Given the description of an element on the screen output the (x, y) to click on. 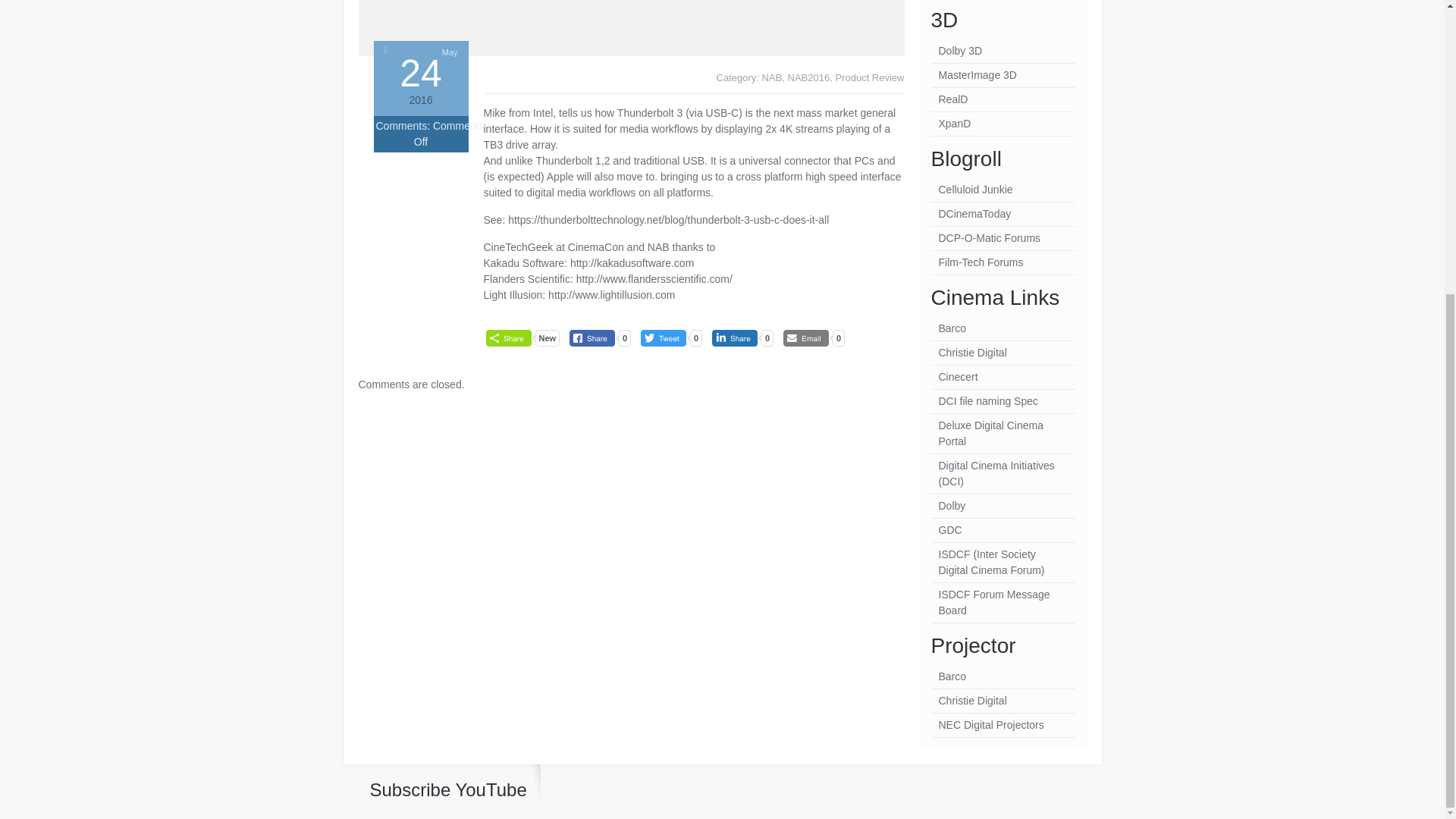
Barco Digital Cinema Projectors. (1003, 328)
Spinning wheel, polarizing lens. (1003, 75)
NAB (772, 77)
NAB2016 (808, 77)
Z-filter polarizing system. (1003, 99)
A discussion forum for those interested in digital cinema (1003, 238)
Product Review (869, 77)
Digital Cinema News Site (1003, 214)
